Given the description of an element on the screen output the (x, y) to click on. 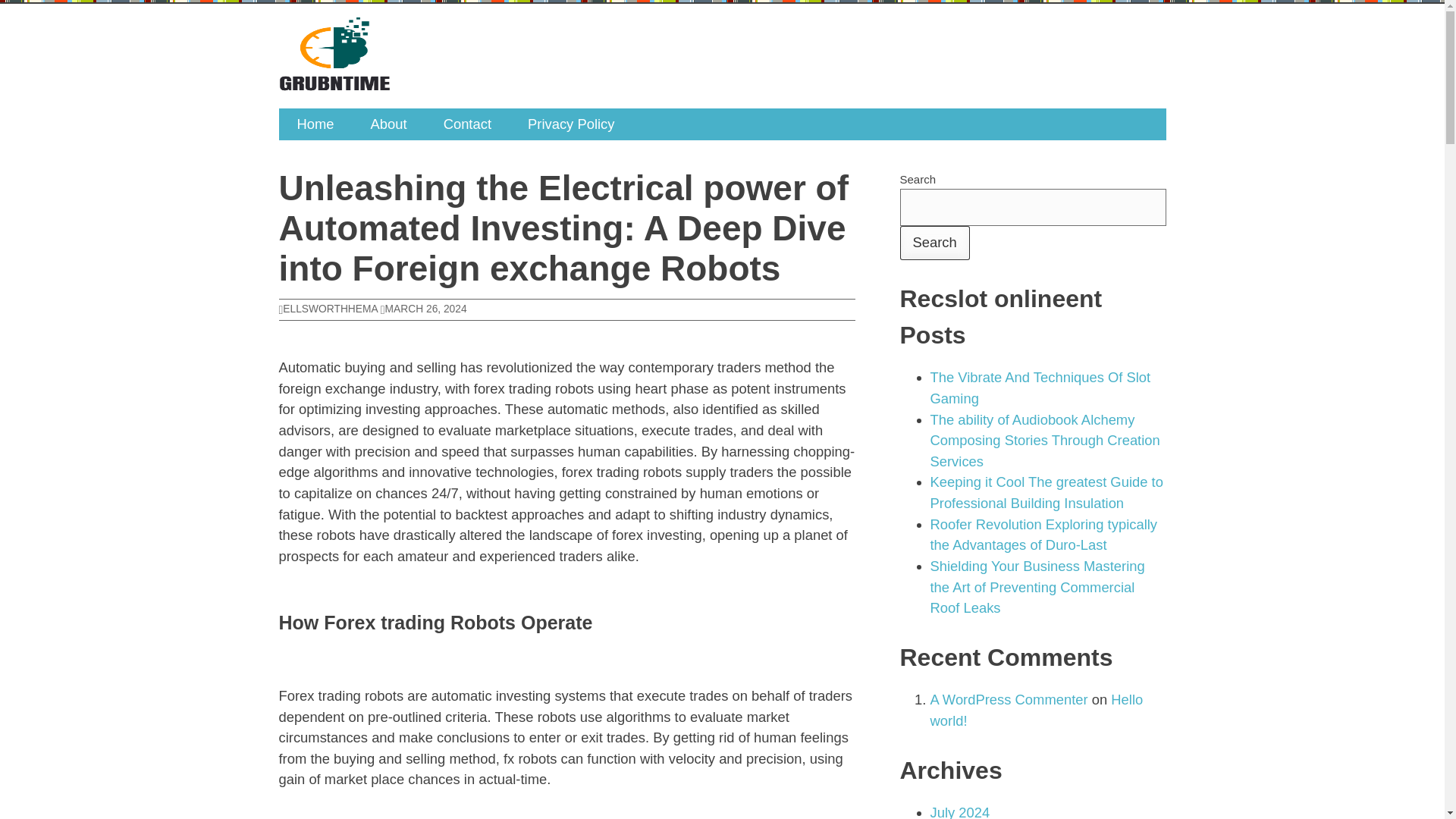
MARCH 26, 2024 (423, 308)
The Vibrate And Techniques Of Slot Gaming (1040, 387)
ELLSWORTHHEMA (328, 308)
About (388, 124)
Contact (467, 124)
Privacy Policy (570, 124)
Home (315, 124)
Search (934, 242)
A WordPress Commenter (1008, 699)
July 2024 (960, 811)
